Given the description of an element on the screen output the (x, y) to click on. 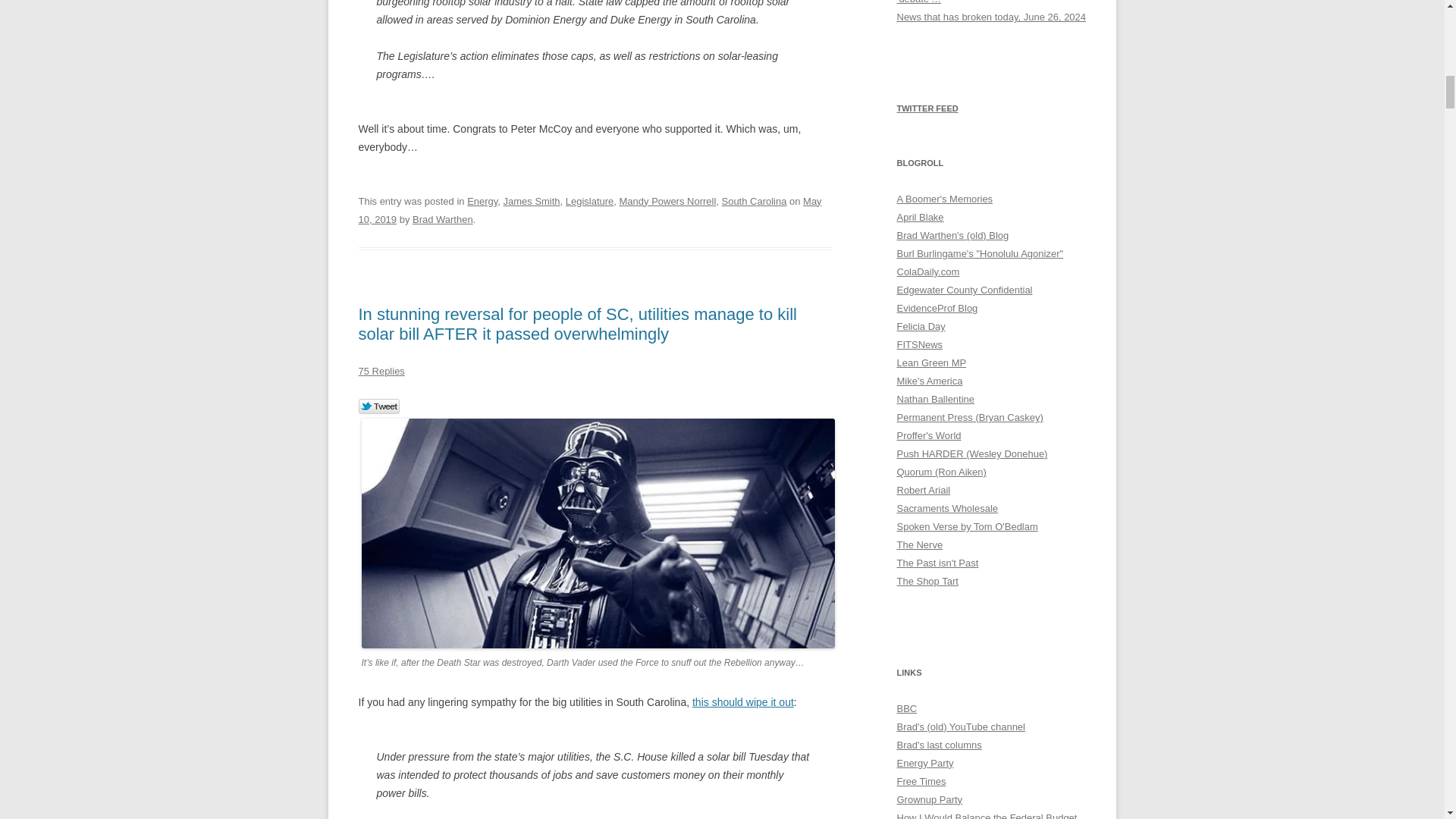
James Smith (531, 201)
Tweet (378, 406)
Legislature (590, 201)
75 Replies (381, 370)
May 10, 2019 (589, 210)
South Carolina (754, 201)
Brad Warthen (442, 219)
this should wipe it out (743, 702)
Energy (482, 201)
Mandy Powers Norrell (668, 201)
View all posts by Brad Warthen (442, 219)
4:01 pm (589, 210)
